Given the description of an element on the screen output the (x, y) to click on. 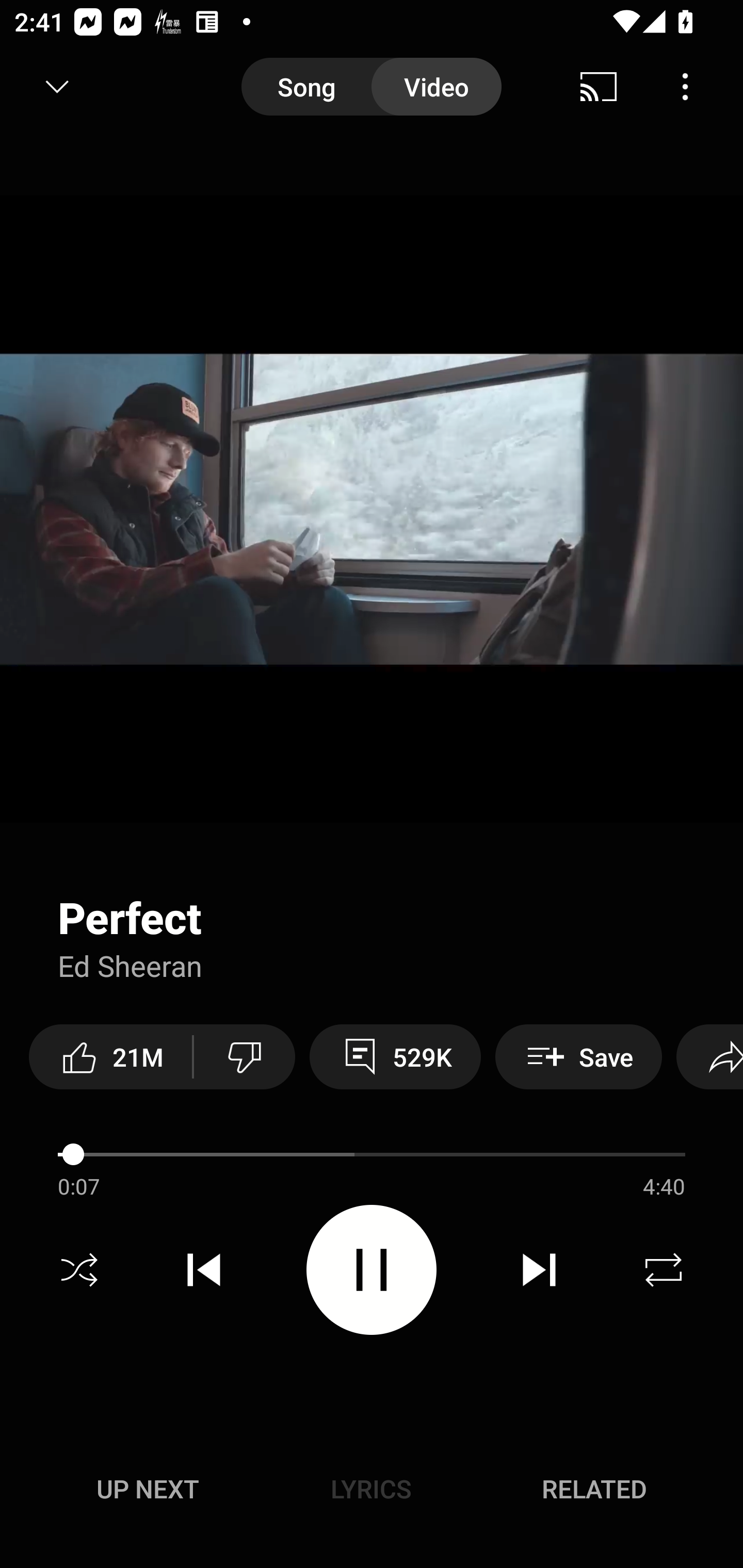
Minimize (57, 86)
Cast. Disconnected (598, 86)
Menu (684, 86)
Action menu (371, 882)
Dislike (243, 1056)
529K View 529,066 comments (394, 1056)
Save Save to playlist (578, 1056)
Share (709, 1056)
Pause video (371, 1269)
Shuffle off (79, 1269)
Previous track (203, 1269)
Next track (538, 1269)
Repeat off (663, 1269)
Up next UP NEXT Lyrics LYRICS Related RELATED (371, 1491)
Lyrics LYRICS (370, 1488)
Related RELATED (594, 1488)
